Given the description of an element on the screen output the (x, y) to click on. 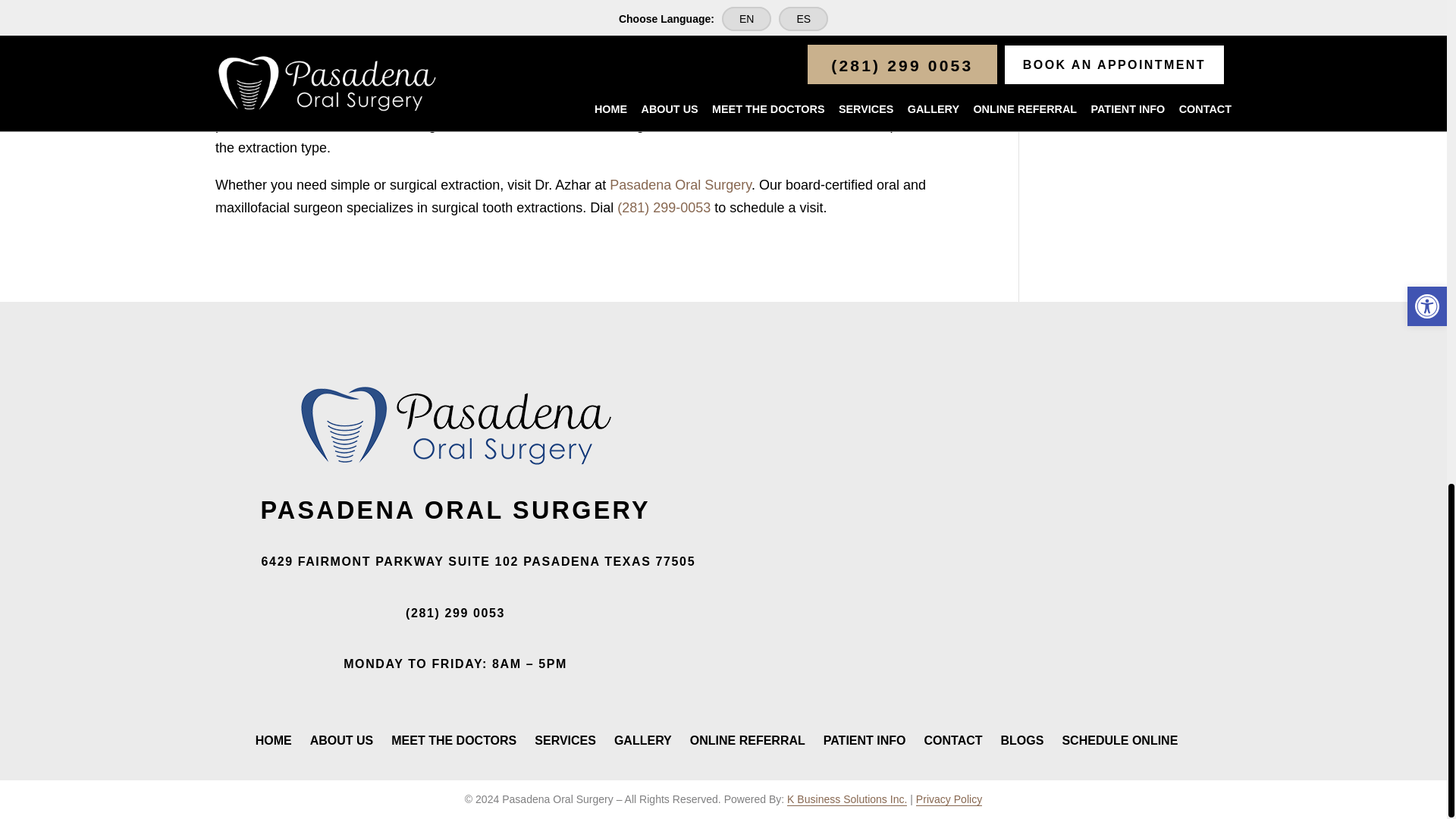
pasadena-oral-logo (455, 425)
